Given the description of an element on the screen output the (x, y) to click on. 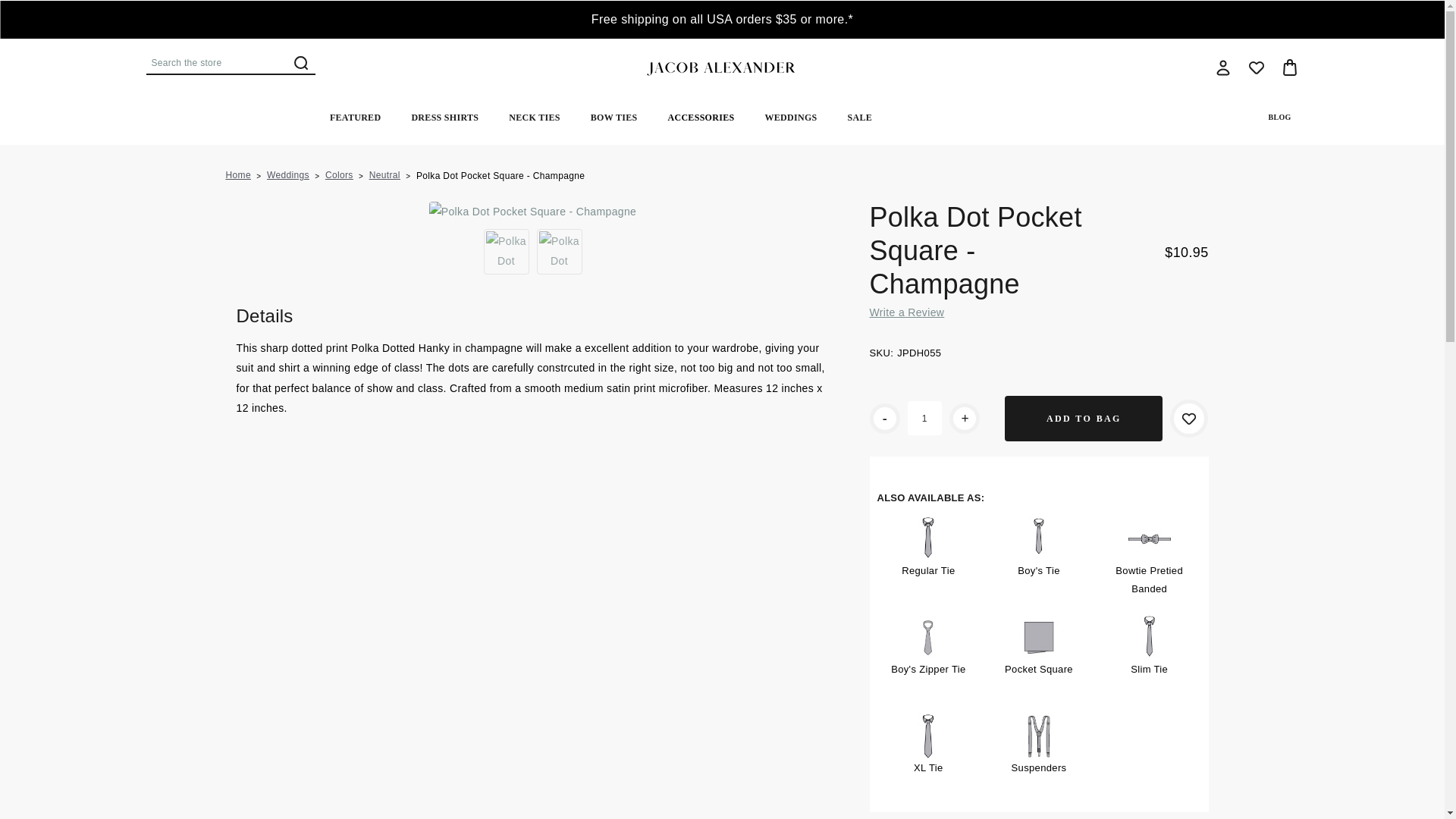
FEATURED (355, 117)
Polka Dot Pocket Square - Champagne (506, 251)
SEARCH (299, 62)
Polka Dot Pocket Square - Champagne (559, 251)
BOW TIES (613, 117)
1 (924, 417)
Polka Dot Pocket Square - Champagne (532, 211)
Polka Dot Pocket Square - Champagne (532, 210)
Add to Bag (1082, 418)
Jacob Alexander (721, 67)
